Given the description of an element on the screen output the (x, y) to click on. 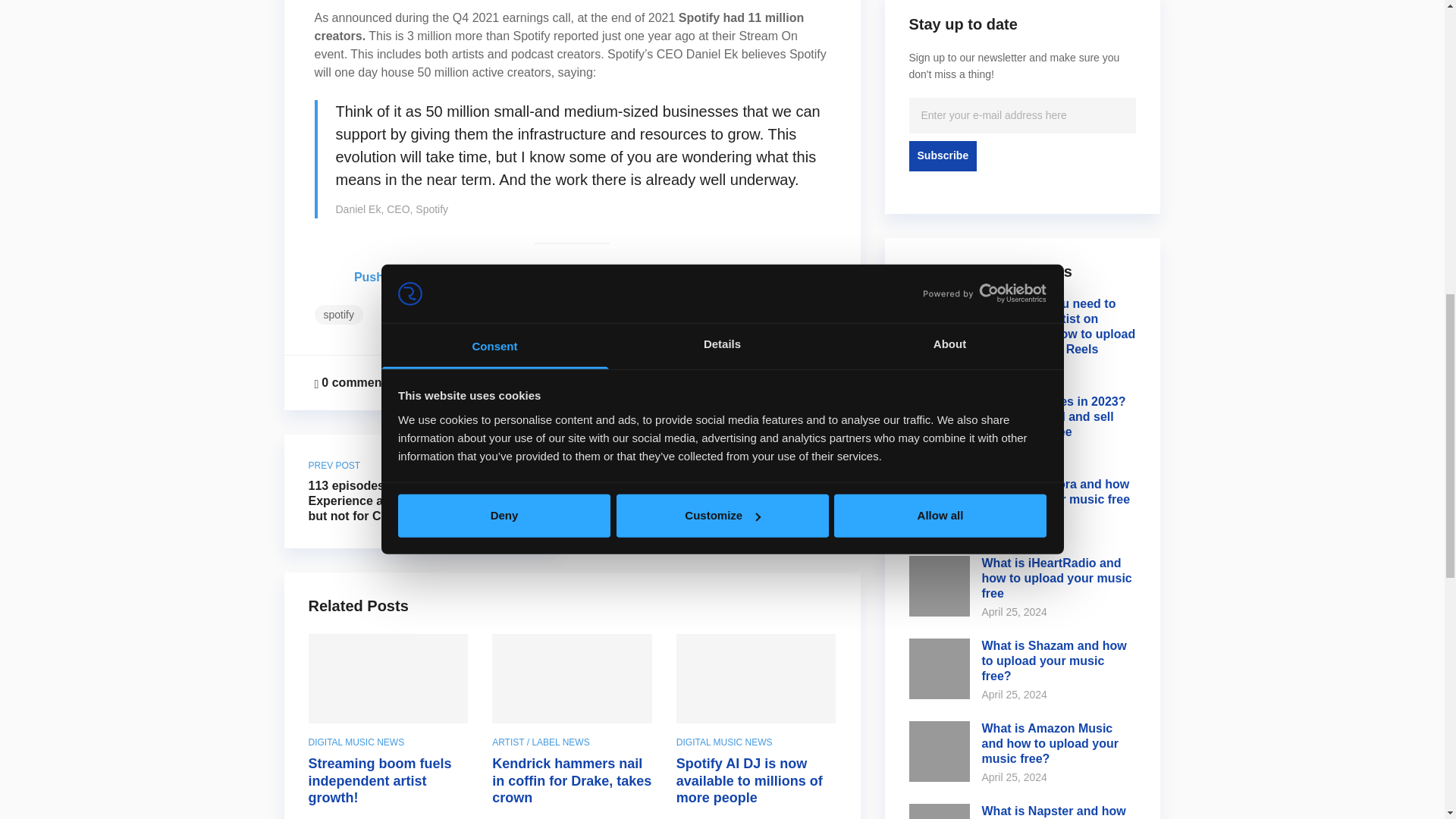
Subscribe (942, 155)
